Given the description of an element on the screen output the (x, y) to click on. 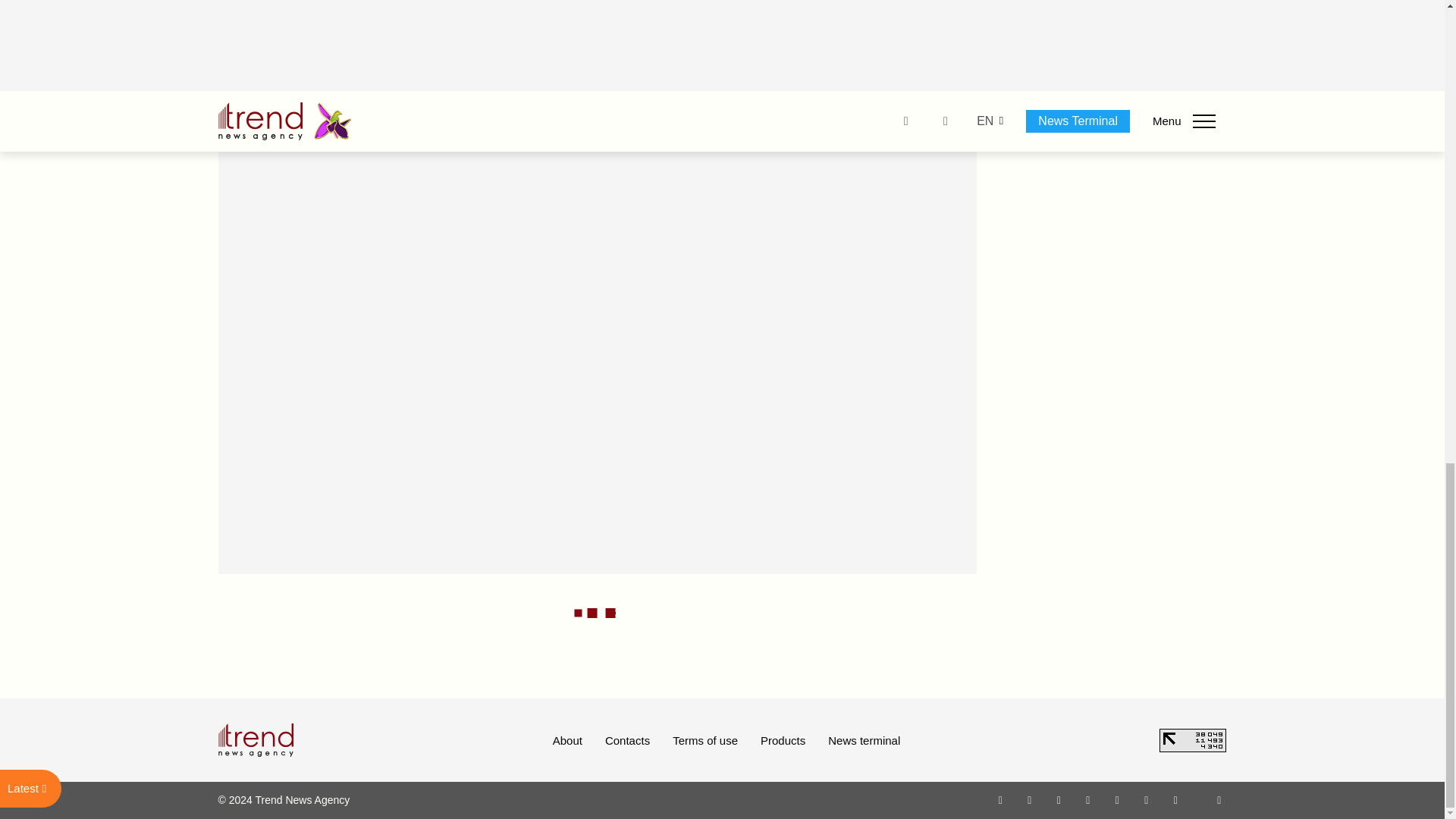
Telegram (1117, 799)
Twitter (1059, 799)
Youtube (1088, 799)
Whatsapp (1000, 799)
Android App (1176, 799)
Facebook (1029, 799)
RSS Feed (1219, 799)
LinkedIn (1146, 799)
